Given the description of an element on the screen output the (x, y) to click on. 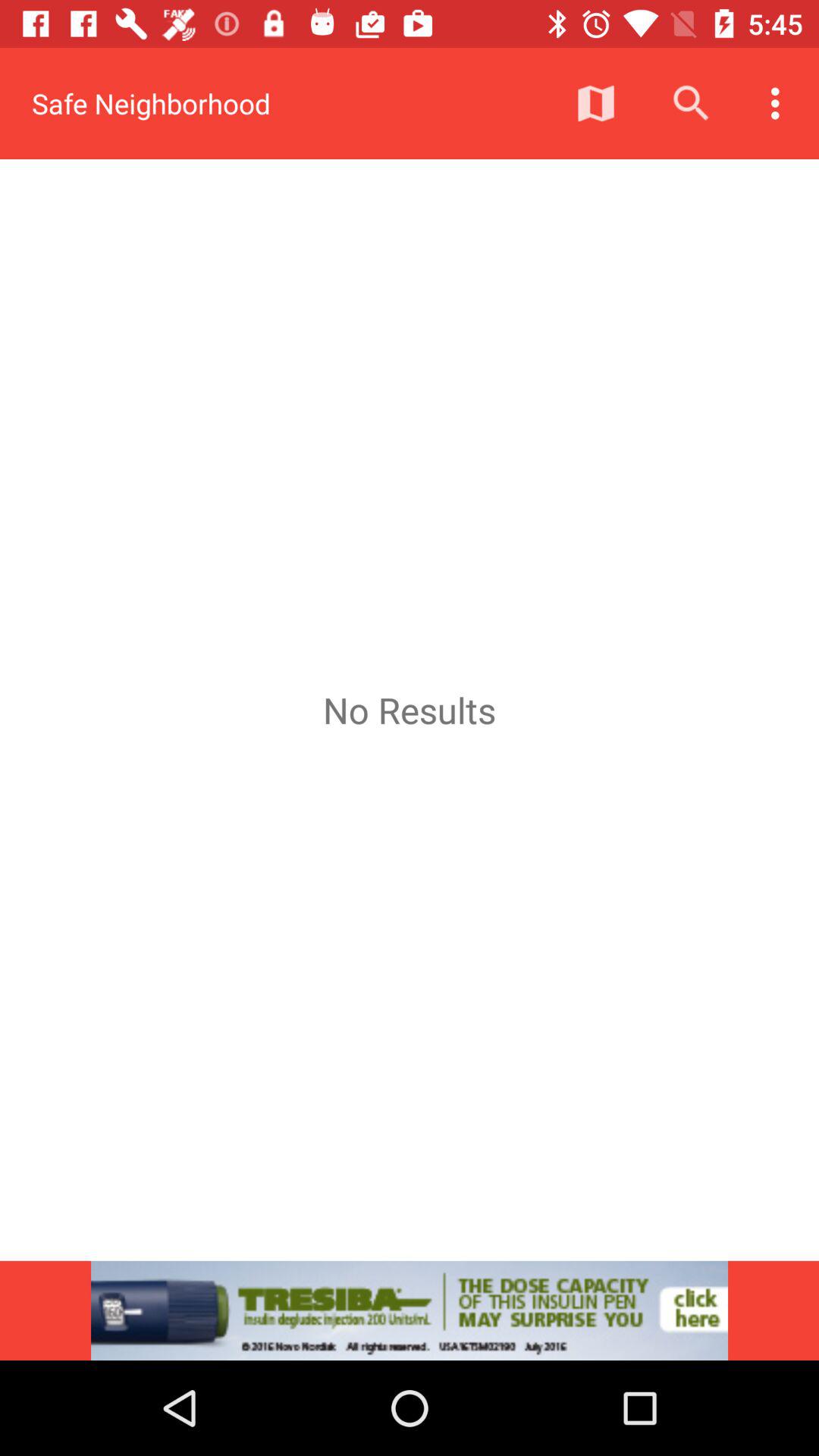
open icon above no results item (779, 103)
